Given the description of an element on the screen output the (x, y) to click on. 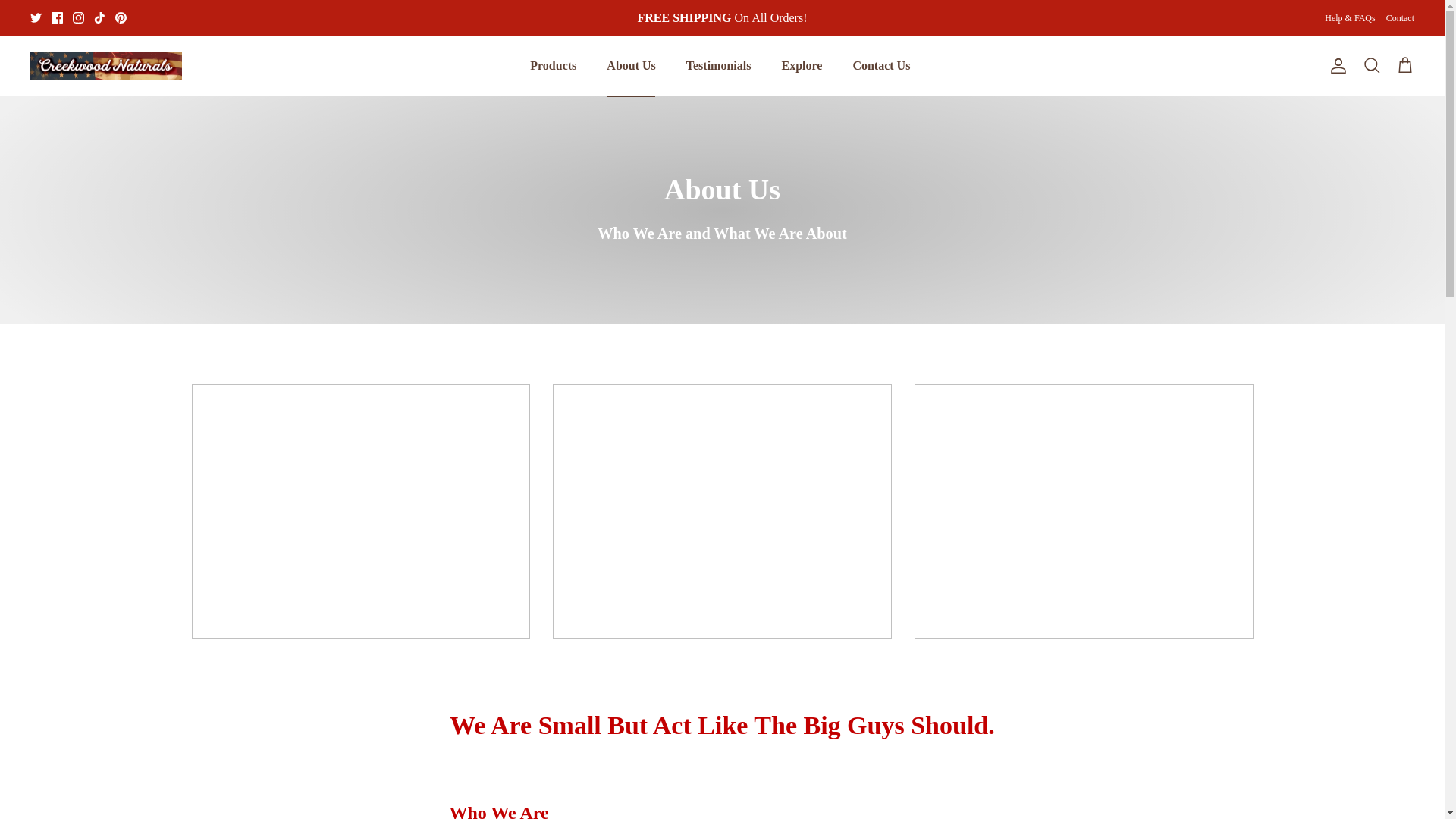
Instagram (78, 17)
Facebook (56, 17)
Pinterest (120, 17)
Contact (1399, 17)
Products (552, 65)
Twitter (36, 17)
Contact Us (880, 65)
Pinterest (120, 17)
Account (1335, 65)
About Us (630, 65)
